Given the description of an element on the screen output the (x, y) to click on. 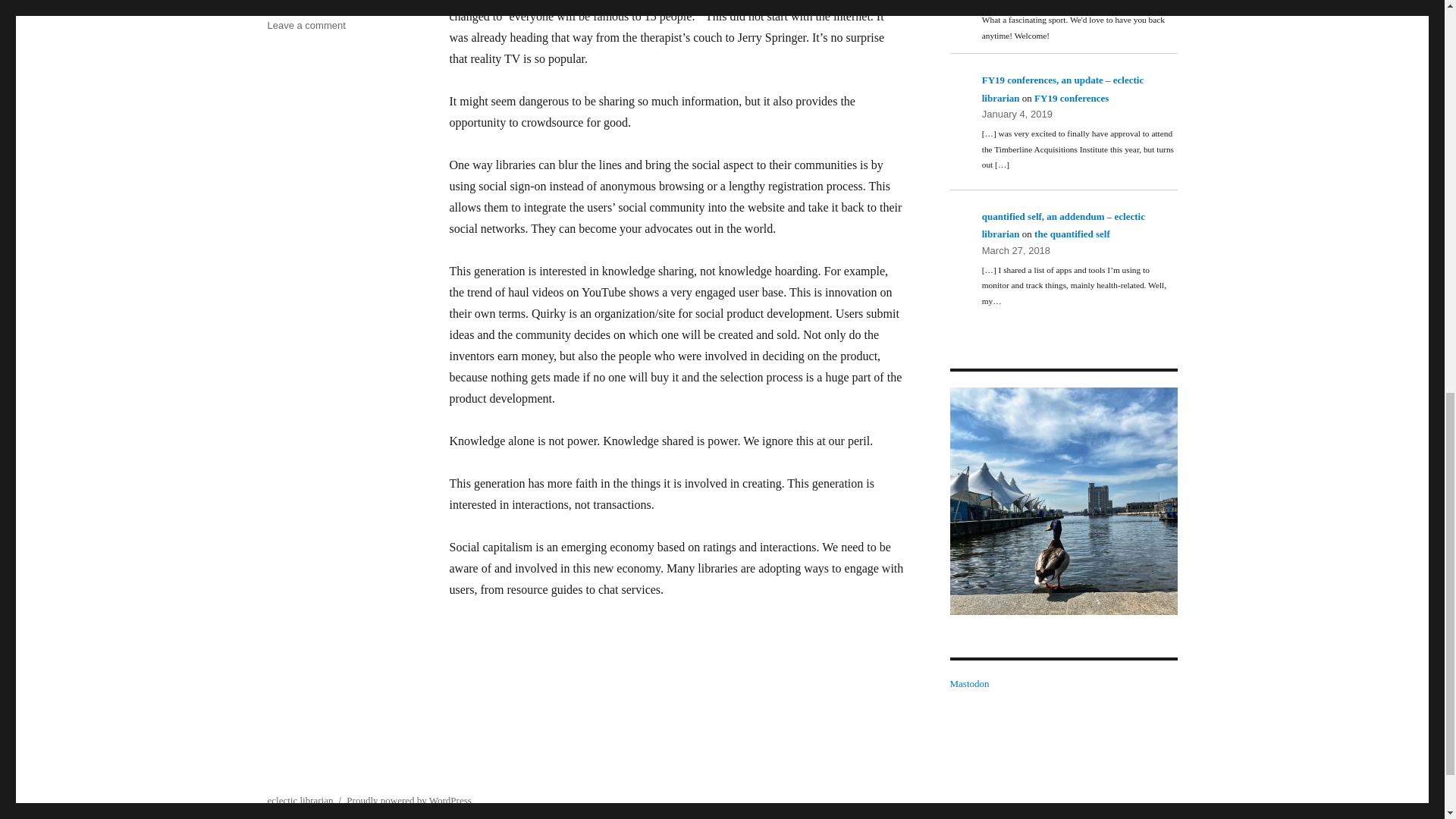
technology (290, 4)
Anna Creech (1062, 500)
YouTube (381, 4)
FY19 conferences (1070, 98)
the quantified self (1071, 233)
therapist (339, 4)
